Given the description of an element on the screen output the (x, y) to click on. 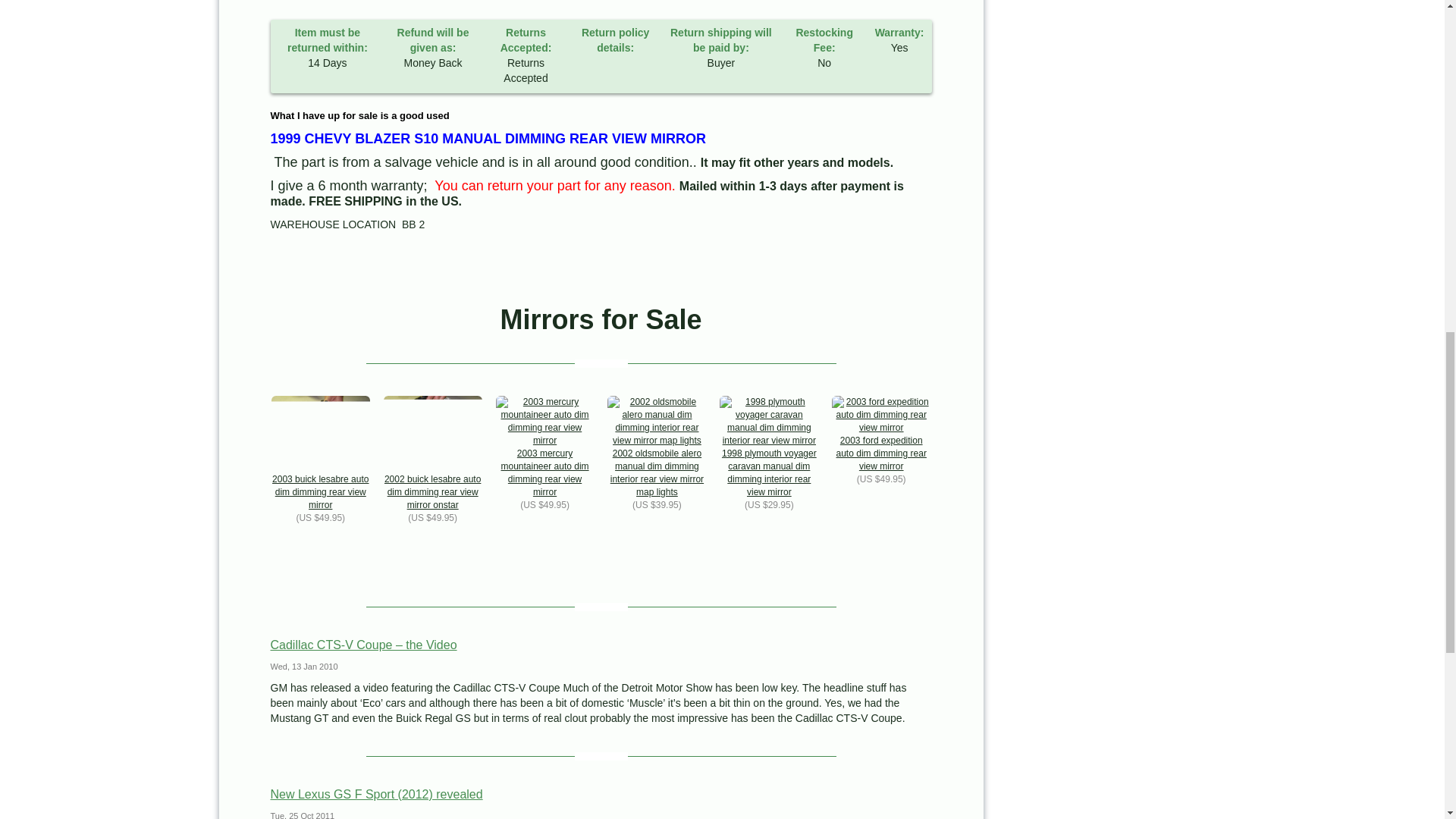
2003 ford expedition auto dim dimming rear view mirror (880, 434)
2003 mercury mountaineer auto dim dimming rear view mirror (545, 446)
